Given the description of an element on the screen output the (x, y) to click on. 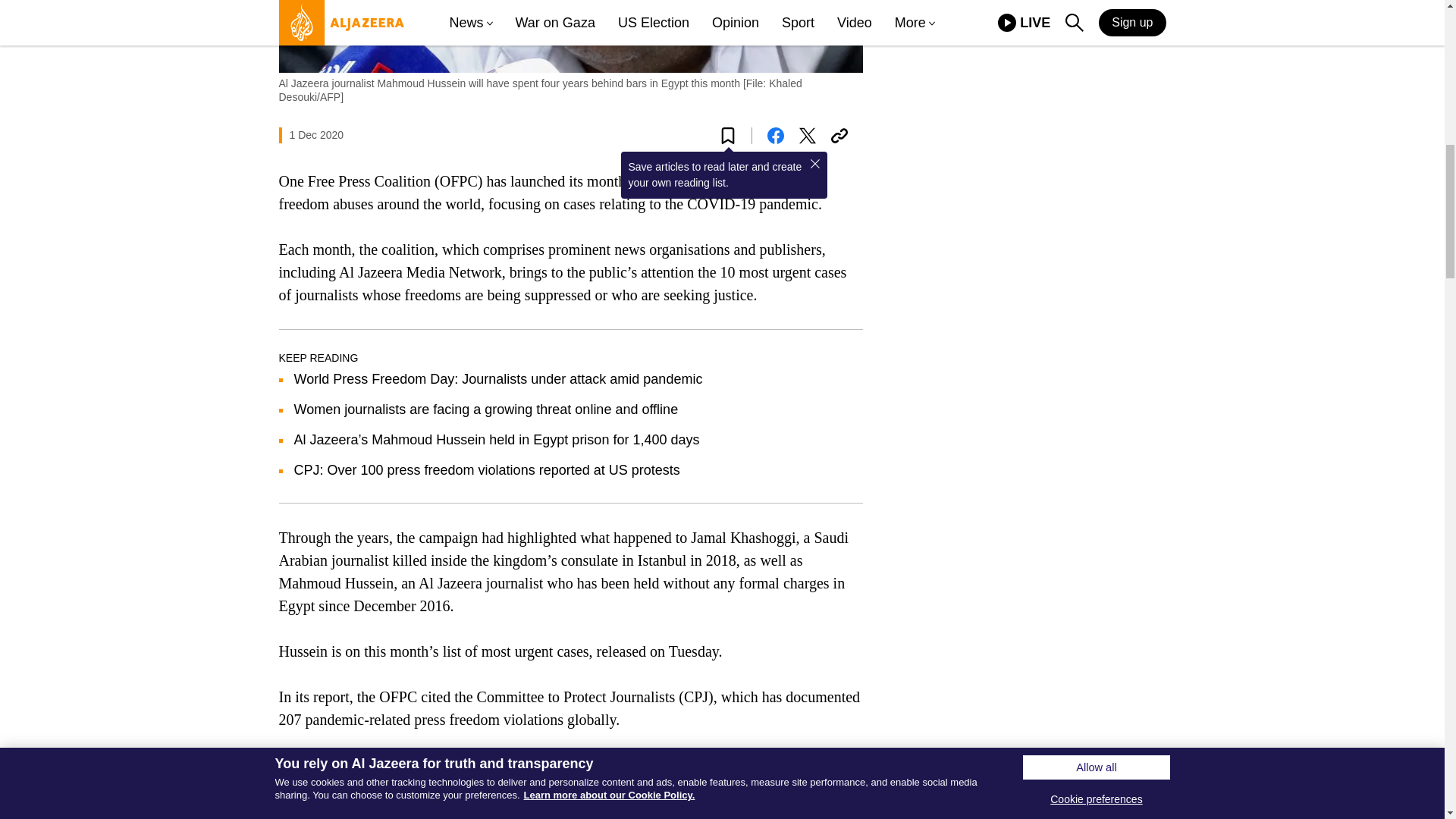
facebook (775, 135)
Close Tooltip (814, 163)
copylink (839, 135)
facebook (775, 135)
copylink (839, 135)
twitter (807, 135)
twitter (807, 135)
